Given the description of an element on the screen output the (x, y) to click on. 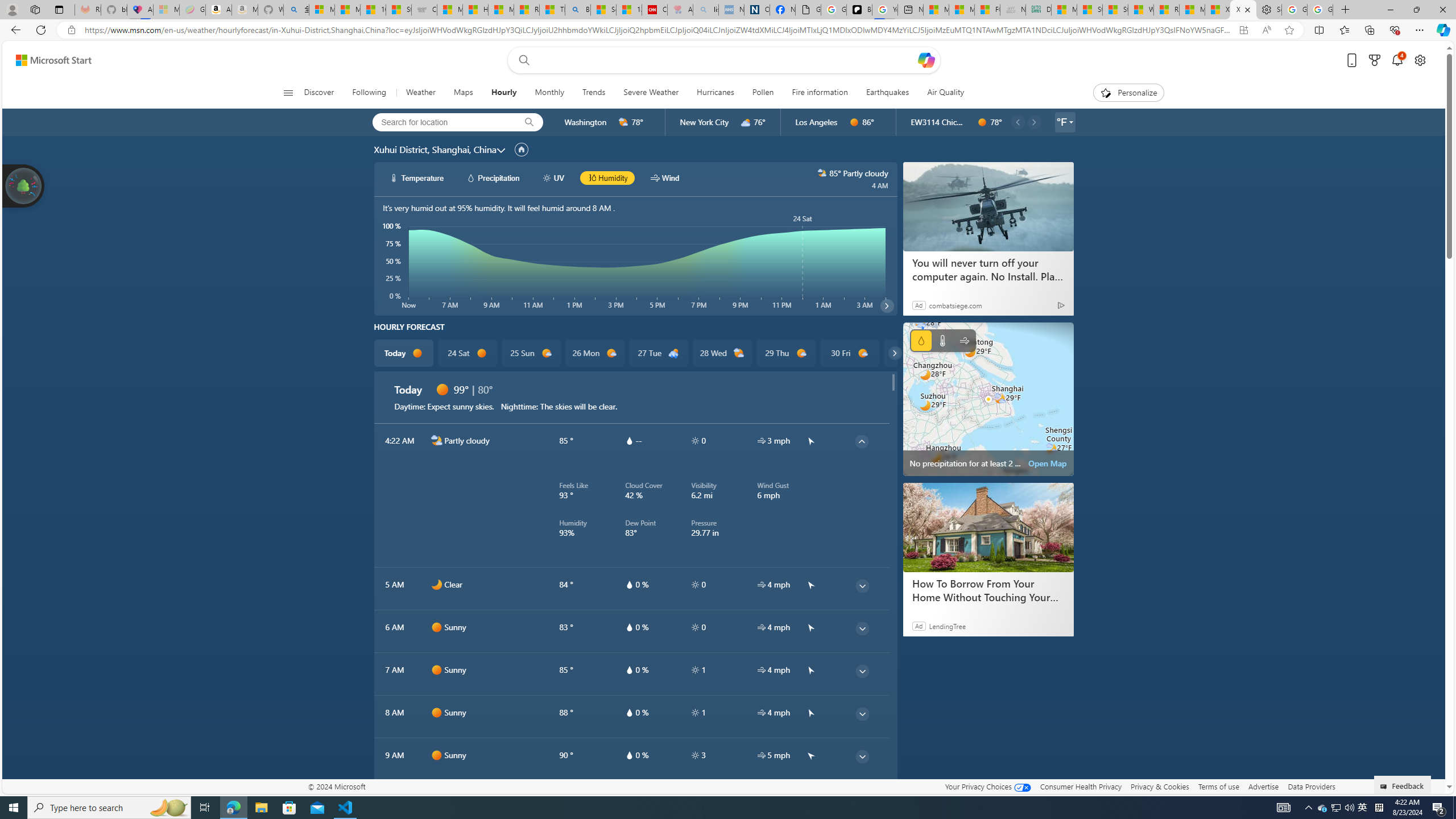
Pollen (762, 92)
hourlyChart/windWhite (655, 177)
hourlyChart/uvWhite (546, 177)
combatsiege.com (955, 304)
